Given the description of an element on the screen output the (x, y) to click on. 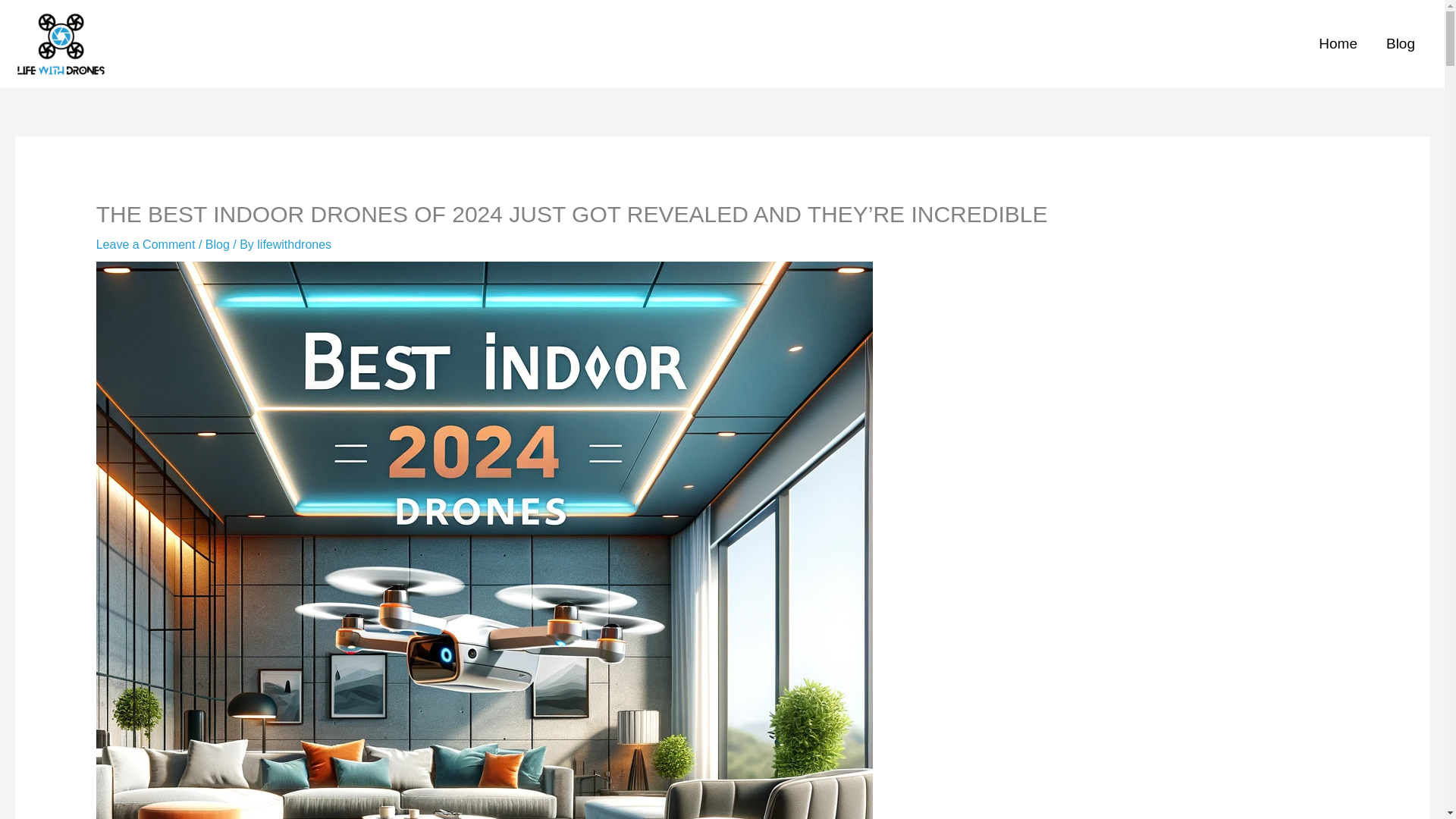
Home (1337, 43)
lifewithdrones (294, 244)
Blog (1400, 43)
Leave a Comment (145, 244)
Blog (217, 244)
View all posts by lifewithdrones (294, 244)
